Given the description of an element on the screen output the (x, y) to click on. 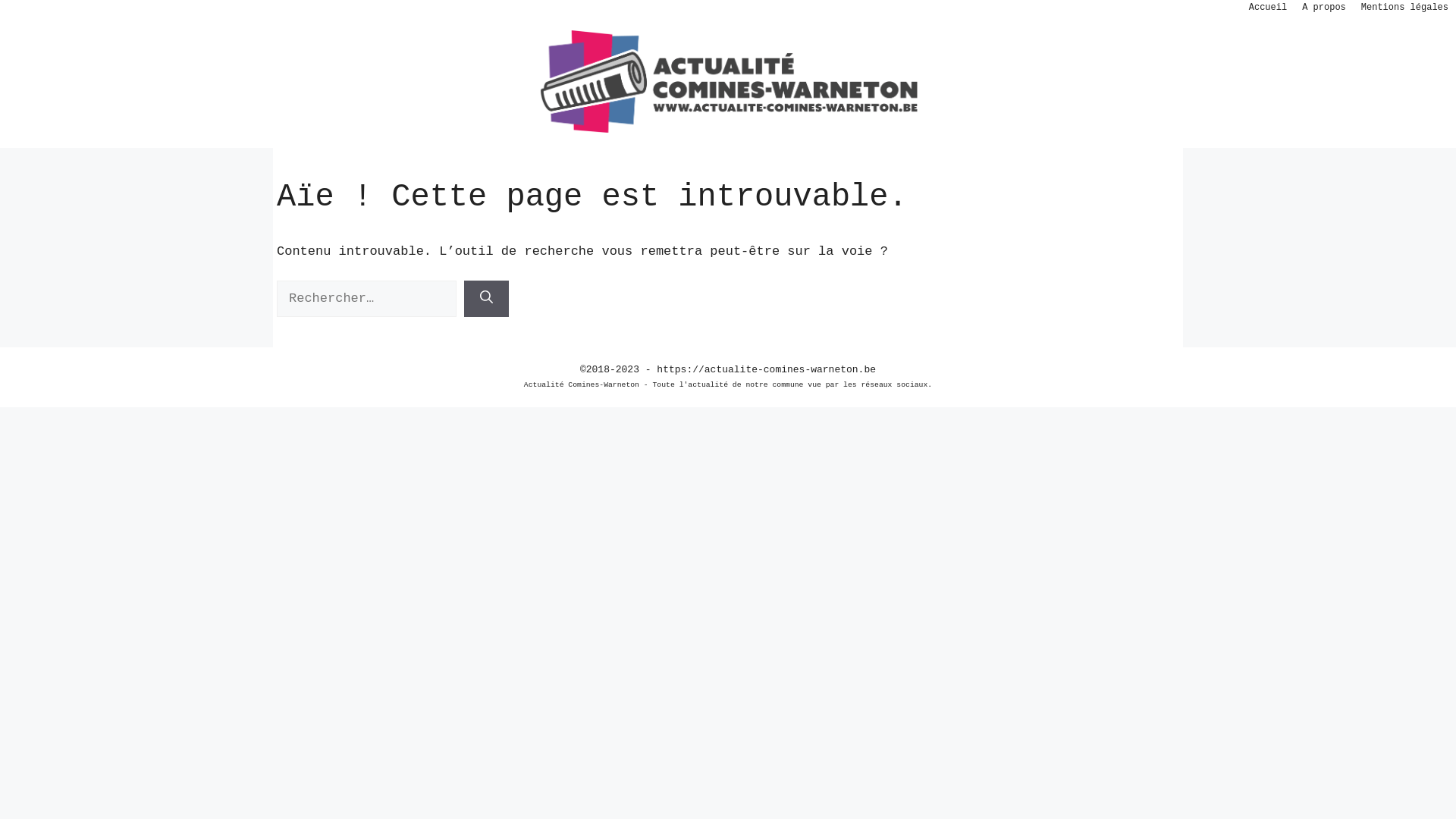
Accueil Element type: text (1267, 7)
A propos Element type: text (1323, 7)
